Given the description of an element on the screen output the (x, y) to click on. 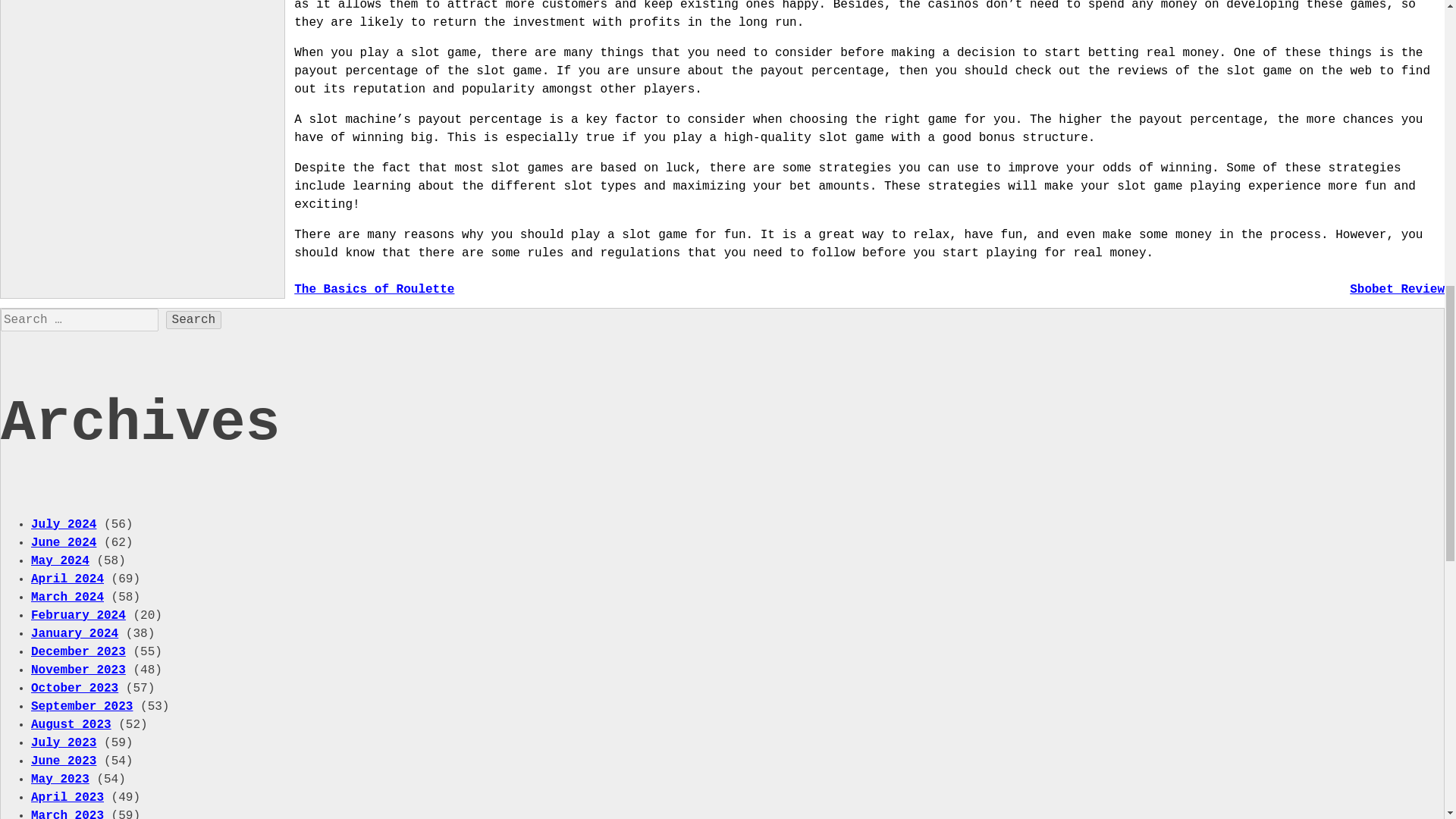
The Basics of Roulette (374, 289)
September 2023 (81, 705)
June 2023 (63, 760)
October 2023 (73, 687)
Search (193, 320)
March 2023 (66, 813)
April 2023 (66, 796)
March 2024 (66, 596)
February 2024 (77, 614)
June 2024 (63, 541)
April 2024 (66, 578)
January 2024 (73, 632)
May 2024 (59, 560)
November 2023 (77, 669)
May 2023 (59, 778)
